Given the description of an element on the screen output the (x, y) to click on. 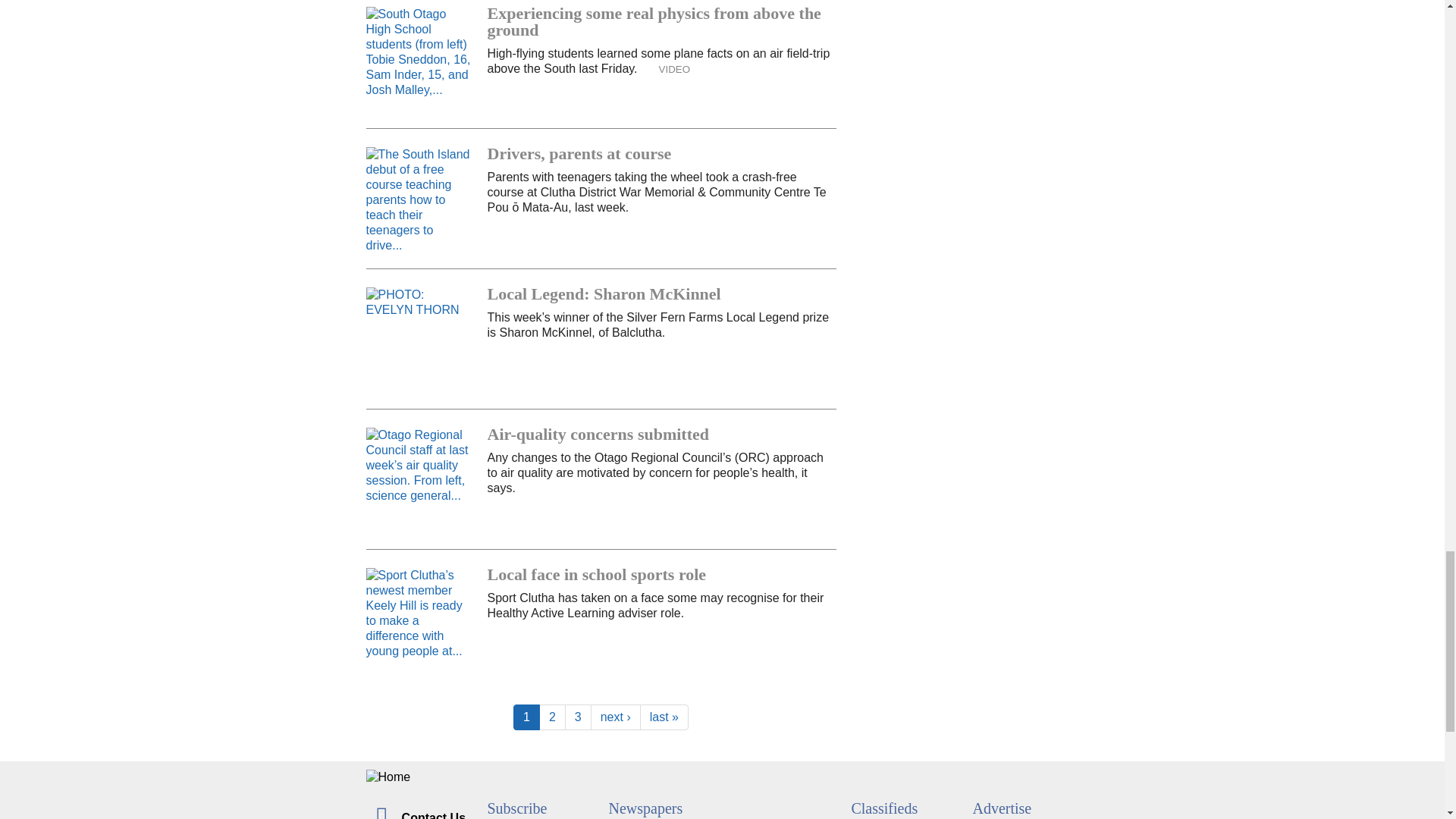
Go to last page (664, 717)
Go to next page (615, 717)
Go to page 2 (552, 717)
Home (721, 776)
Go to page 3 (577, 717)
